Given the description of an element on the screen output the (x, y) to click on. 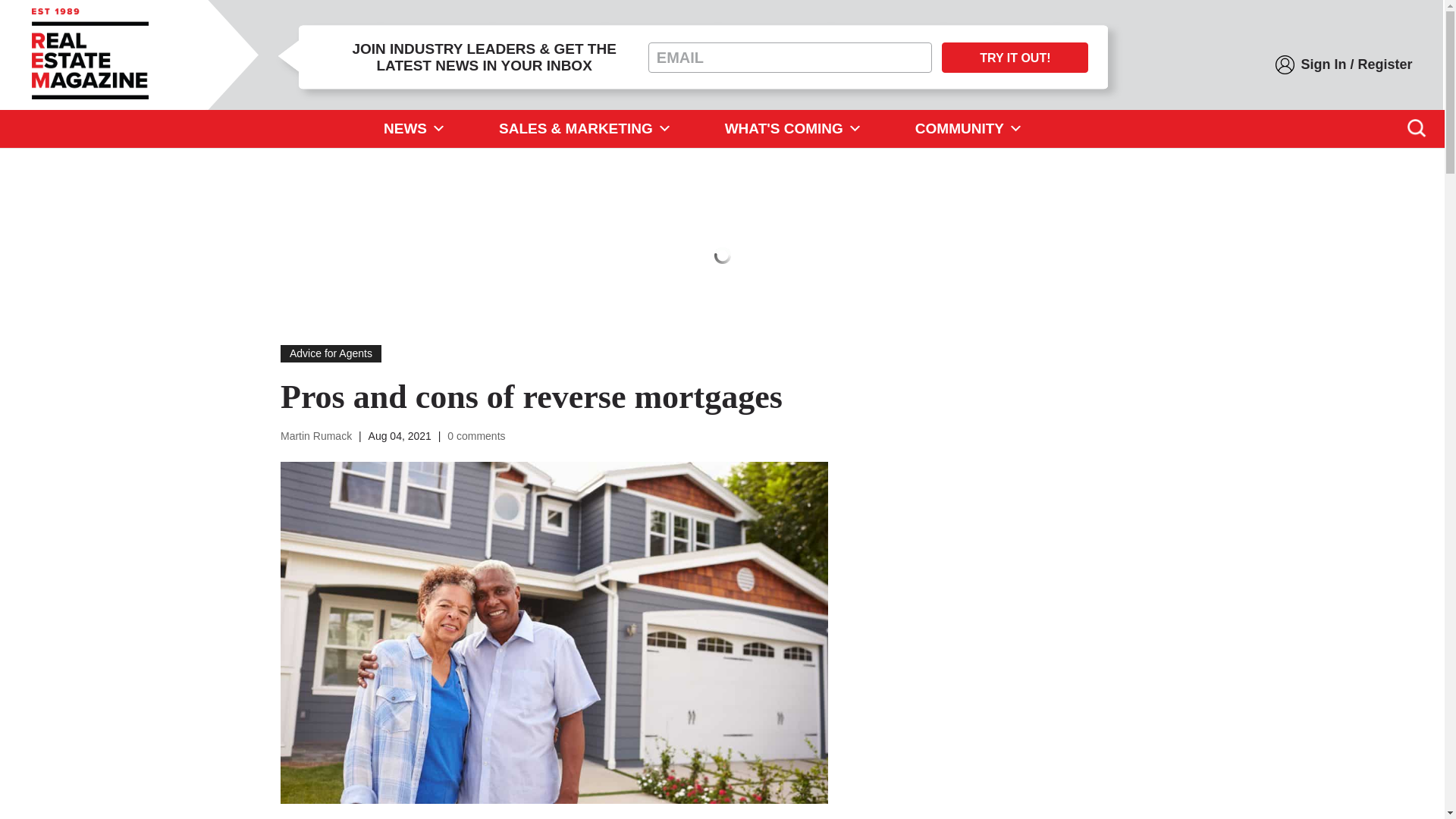
TRY IT OUT! (1014, 57)
NEWS (413, 128)
Register (1384, 64)
Sign In (1322, 64)
